Given the description of an element on the screen output the (x, y) to click on. 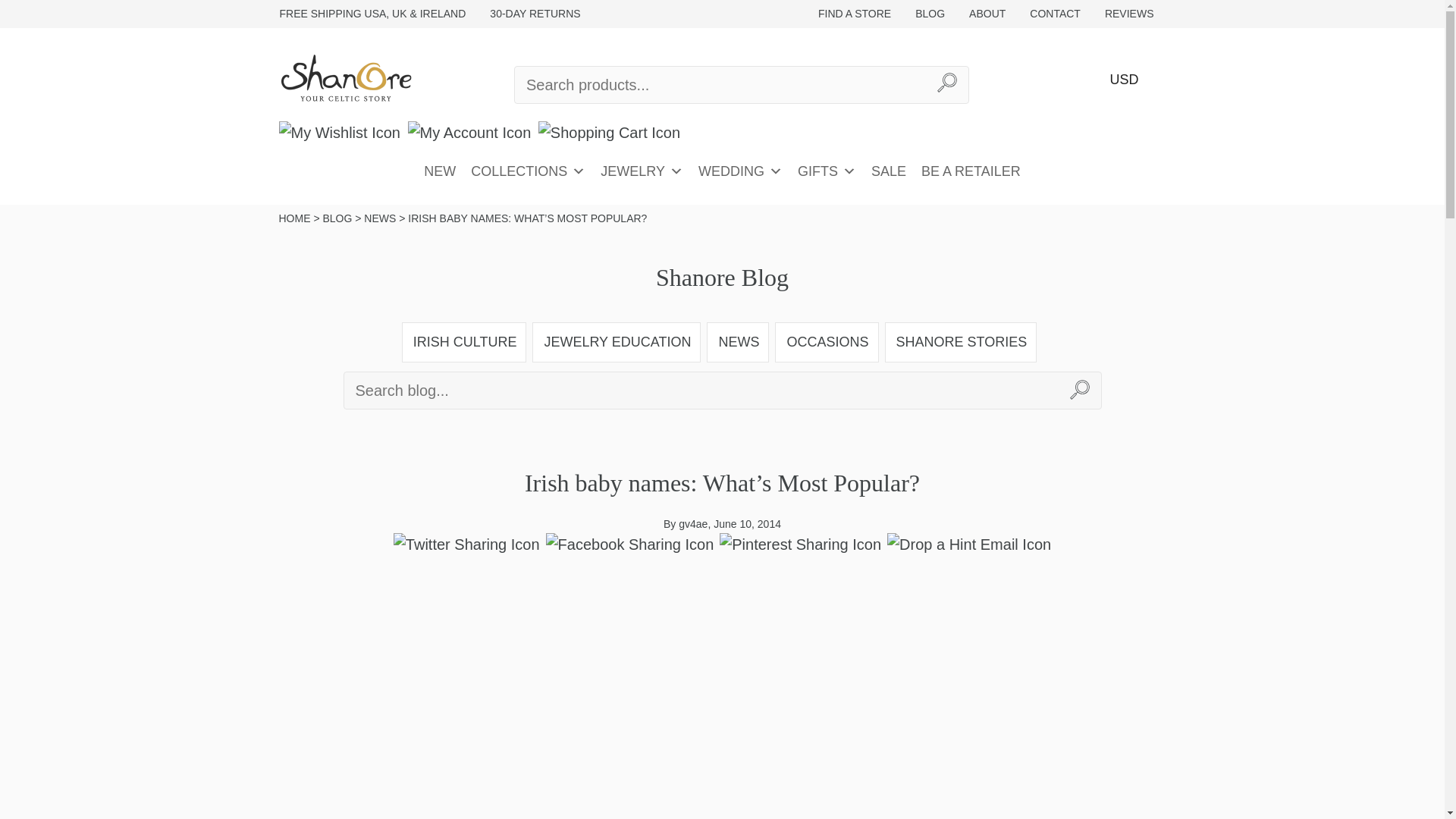
Irish Culture (464, 341)
NEW (439, 171)
ABOUT (986, 13)
Occasions (826, 341)
CONTACT (1055, 13)
REVIEWS (1129, 13)
30-DAY RETURNS (534, 13)
COLLECTIONS (527, 171)
My Wishlist (339, 132)
FIND A STORE (854, 13)
News (737, 341)
My Account (469, 132)
BLOG (929, 13)
ShanOre Stories (960, 341)
Jewelry Education (616, 341)
